Given the description of an element on the screen output the (x, y) to click on. 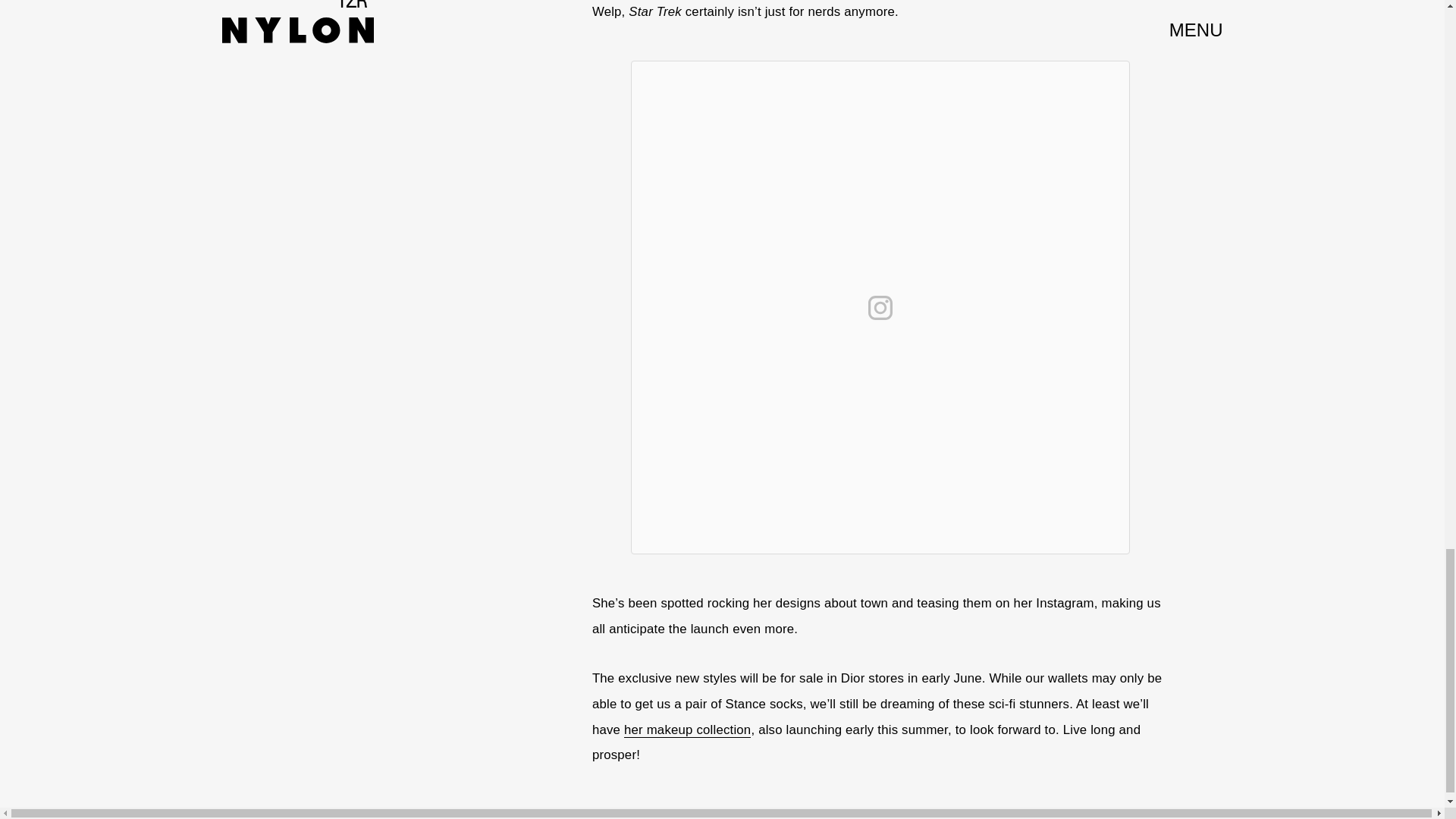
View on Instagram (879, 307)
RIHANNA WENT TO CARNIVAL IN A DRAMATIC BEJEWELED ENSEMBLE (450, 3)
her makeup collection (687, 729)
